Given the description of an element on the screen output the (x, y) to click on. 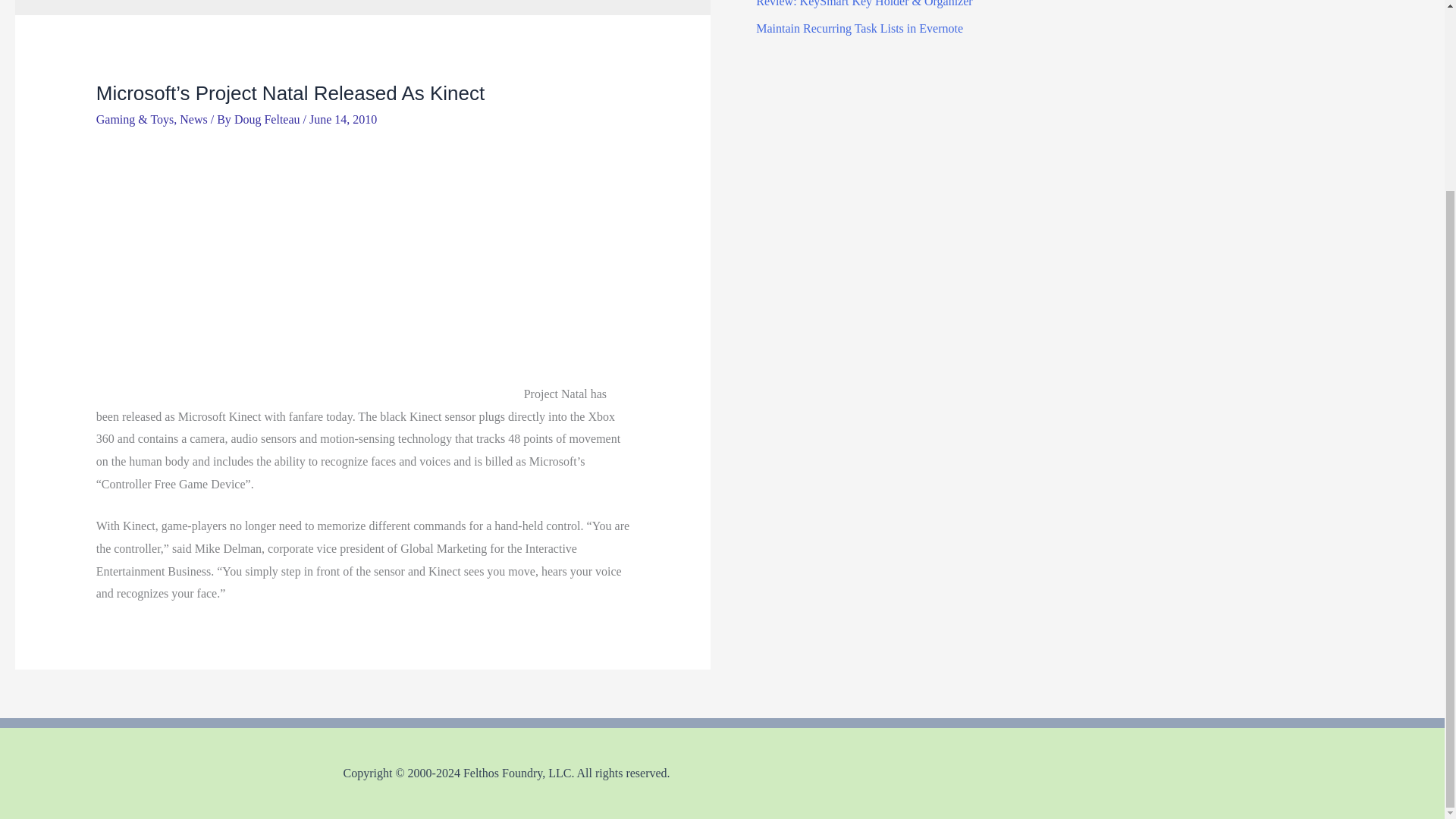
Doug Felteau (268, 119)
Maintain Recurring Task Lists in Evernote (858, 28)
View all posts by Doug Felteau (268, 119)
News (192, 119)
